Given the description of an element on the screen output the (x, y) to click on. 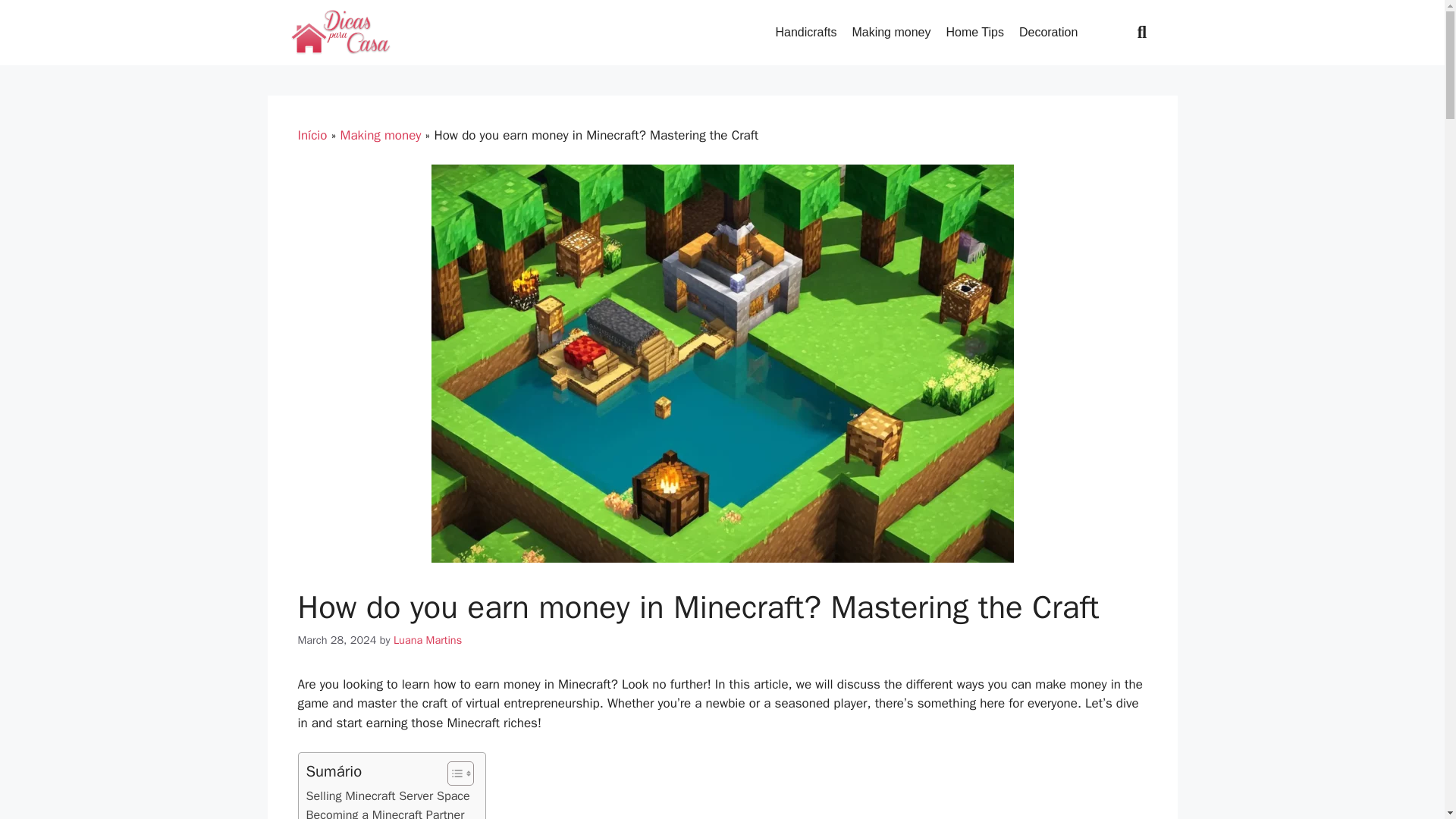
Home Tips (973, 32)
Handicrafts (805, 32)
Selling Minecraft Server Space (387, 795)
Making money (890, 32)
Decoration (1047, 32)
View all posts by Luana Martins (427, 640)
Becoming a Minecraft Partner (384, 812)
